Given the description of an element on the screen output the (x, y) to click on. 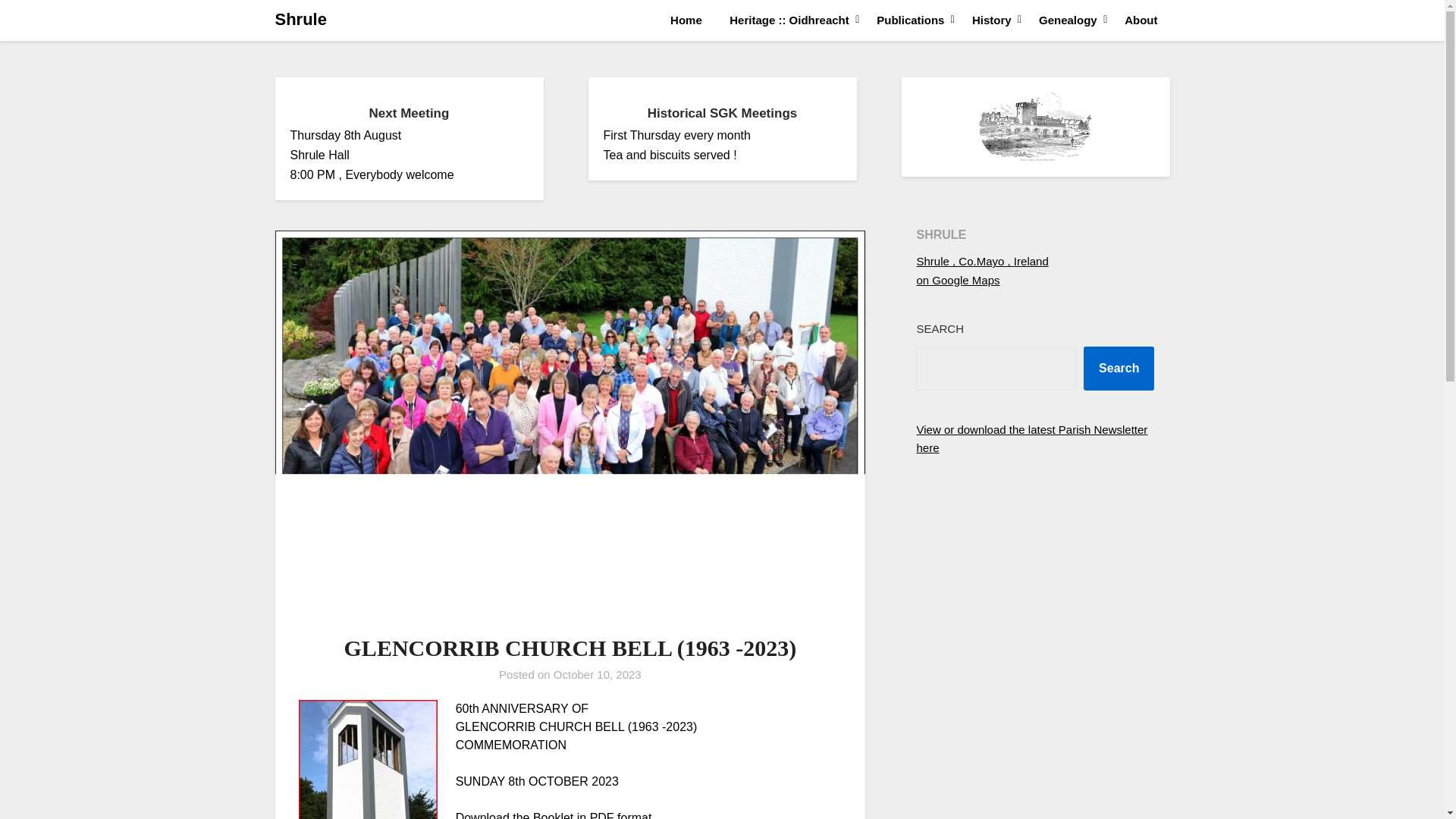
History (991, 20)
Heritage :: Oidhreacht (789, 20)
Home (686, 20)
Shrule (300, 19)
Publications (910, 20)
